Given the description of an element on the screen output the (x, y) to click on. 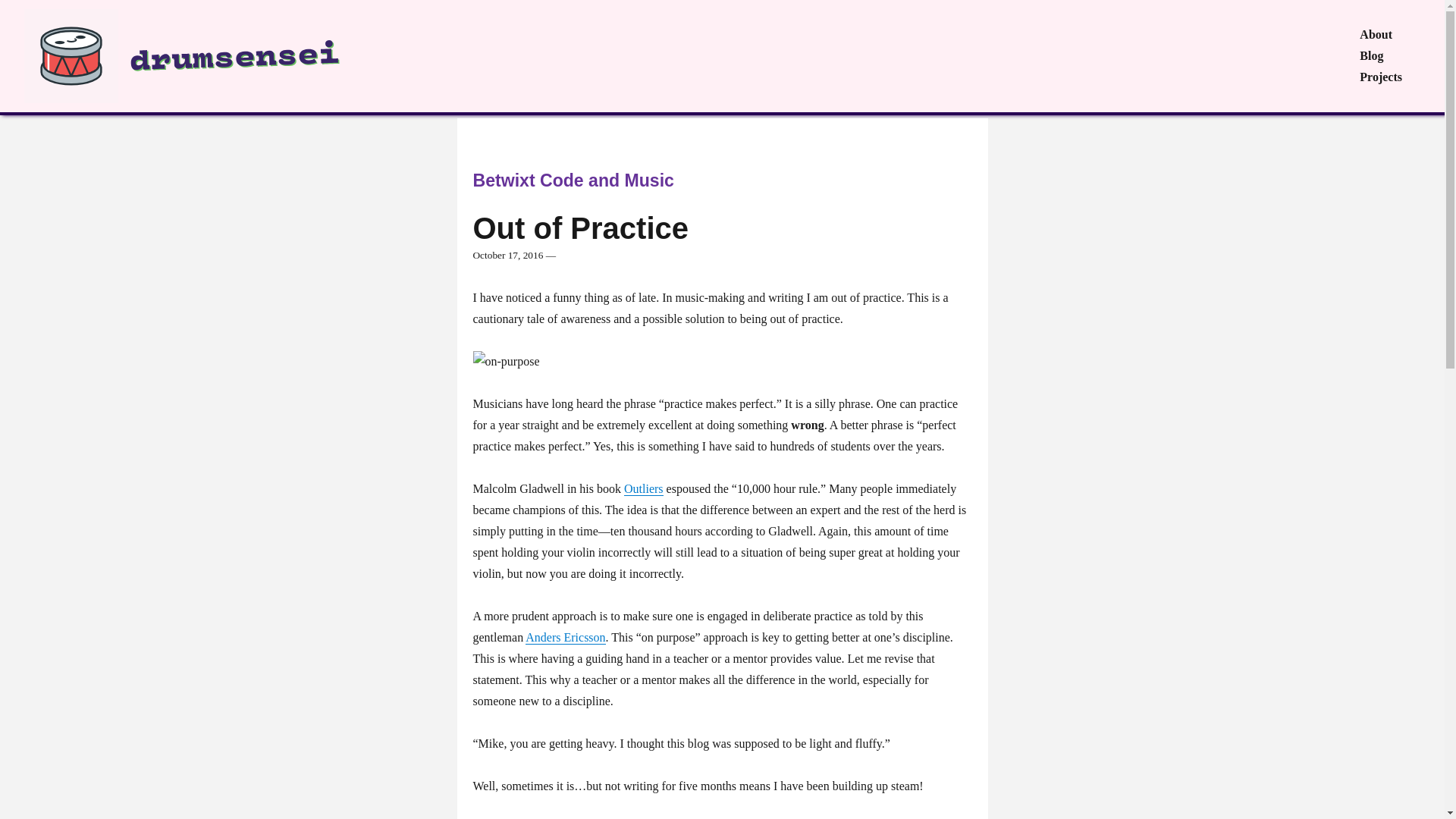
Outliers (643, 488)
About (1390, 34)
Blog (1380, 55)
Drumsensei Logo (244, 56)
Anders Ericsson (565, 636)
Drumsensei Logo (243, 59)
Projects (1380, 76)
